Given the description of an element on the screen output the (x, y) to click on. 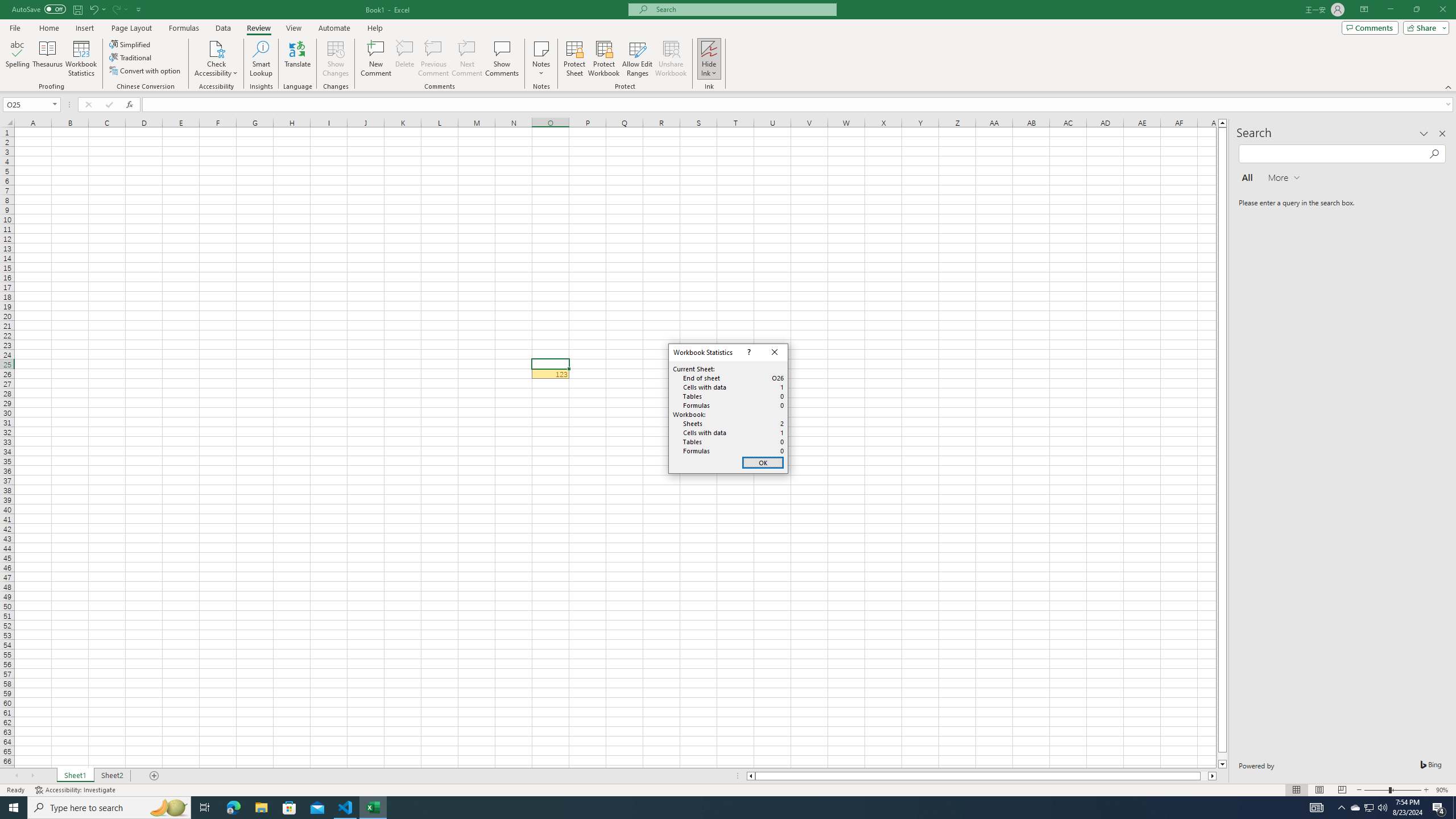
Running applications (717, 807)
File Explorer (261, 807)
Help (374, 28)
Open (54, 104)
Task Pane Options (1423, 133)
Formulas (184, 28)
More Options (708, 68)
Start (13, 807)
Previous Comment (432, 58)
Show Changes (335, 58)
Thesaurus... (47, 58)
Task View (204, 807)
Scroll Left (16, 775)
